Given the description of an element on the screen output the (x, y) to click on. 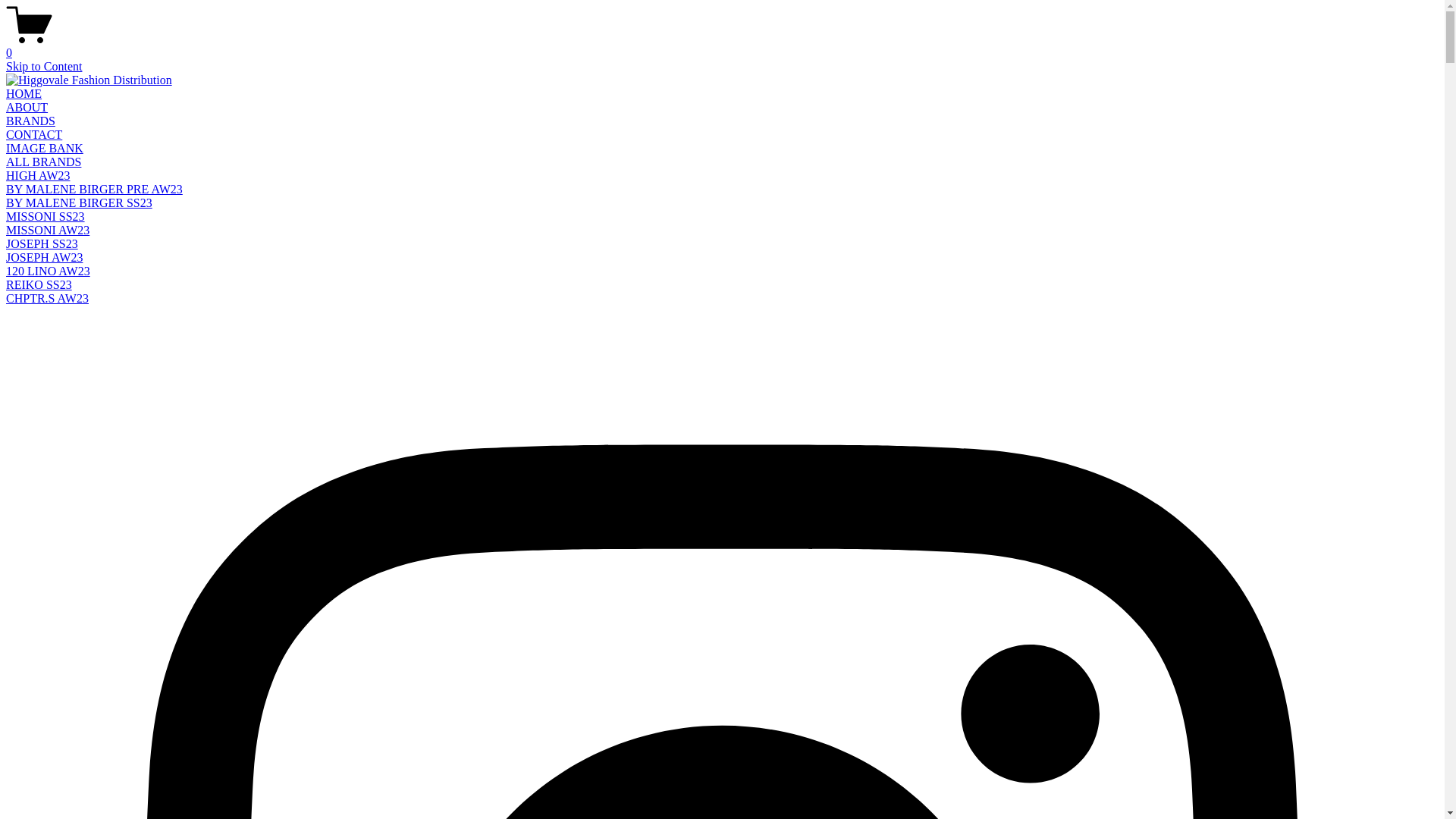
JOSEPH AW23 Element type: text (44, 257)
0 Element type: text (722, 45)
BY MALENE BIRGER PRE AW23 Element type: text (94, 188)
CHPTR.S AW23 Element type: text (47, 297)
ALL BRANDS Element type: text (43, 161)
REIKO SS23 Element type: text (39, 284)
JOSEPH SS23 Element type: text (42, 243)
120 LINO AW23 Element type: text (48, 270)
ABOUT Element type: text (26, 106)
IMAGE BANK Element type: text (44, 147)
BRANDS Element type: text (30, 120)
MISSONI SS23 Element type: text (45, 216)
BY MALENE BIRGER SS23 Element type: text (79, 202)
Skip to Content Element type: text (43, 65)
MISSONI AW23 Element type: text (47, 229)
CONTACT Element type: text (34, 134)
HIGH AW23 Element type: text (37, 175)
HOME Element type: text (23, 93)
